Given the description of an element on the screen output the (x, y) to click on. 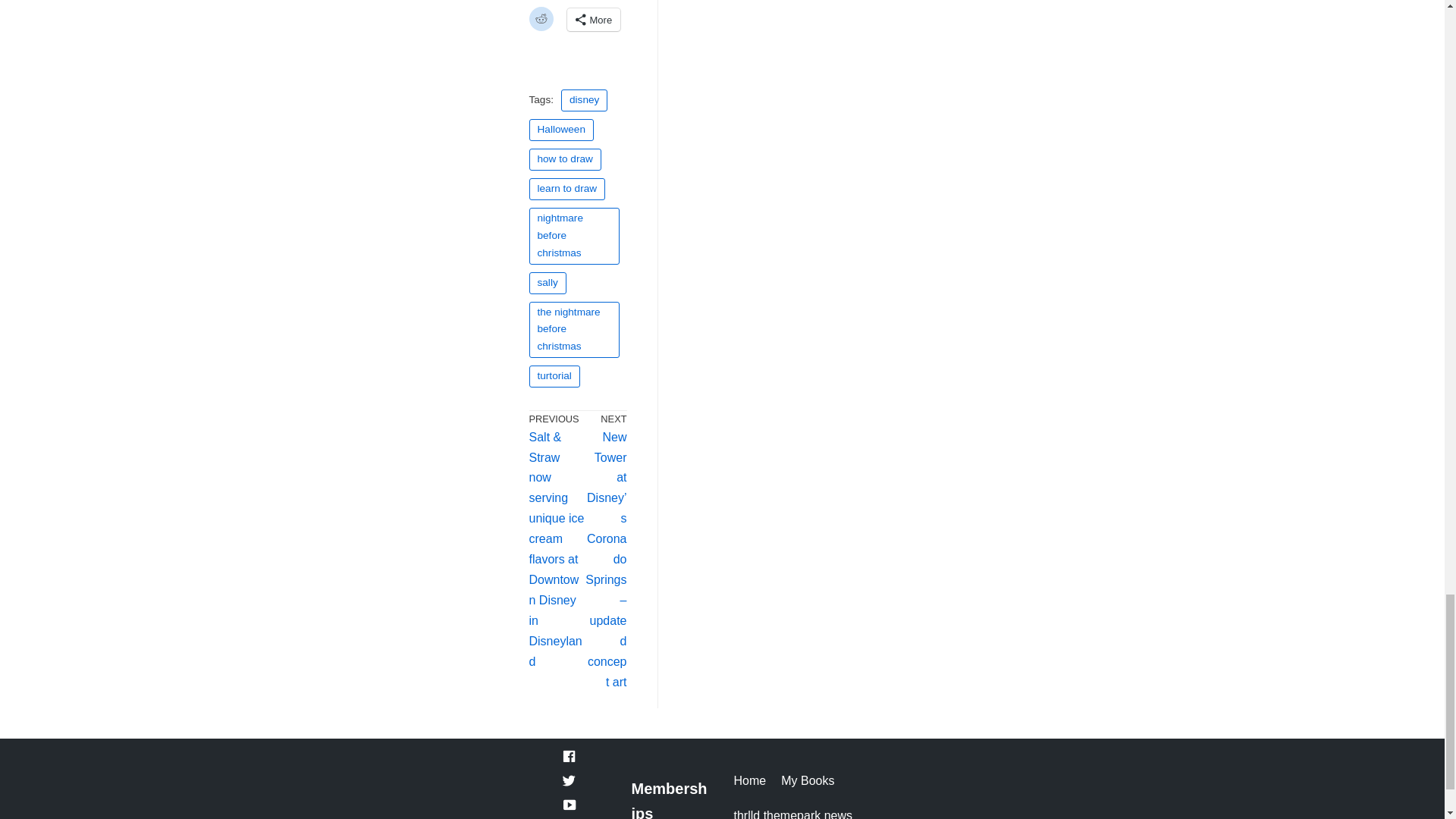
Click to share on Reddit (541, 18)
learn to draw (567, 188)
sally (547, 282)
nightmare before christmas (574, 236)
disney (583, 100)
how to draw (565, 159)
the nightmare before christmas (574, 330)
Halloween (561, 129)
